Given the description of an element on the screen output the (x, y) to click on. 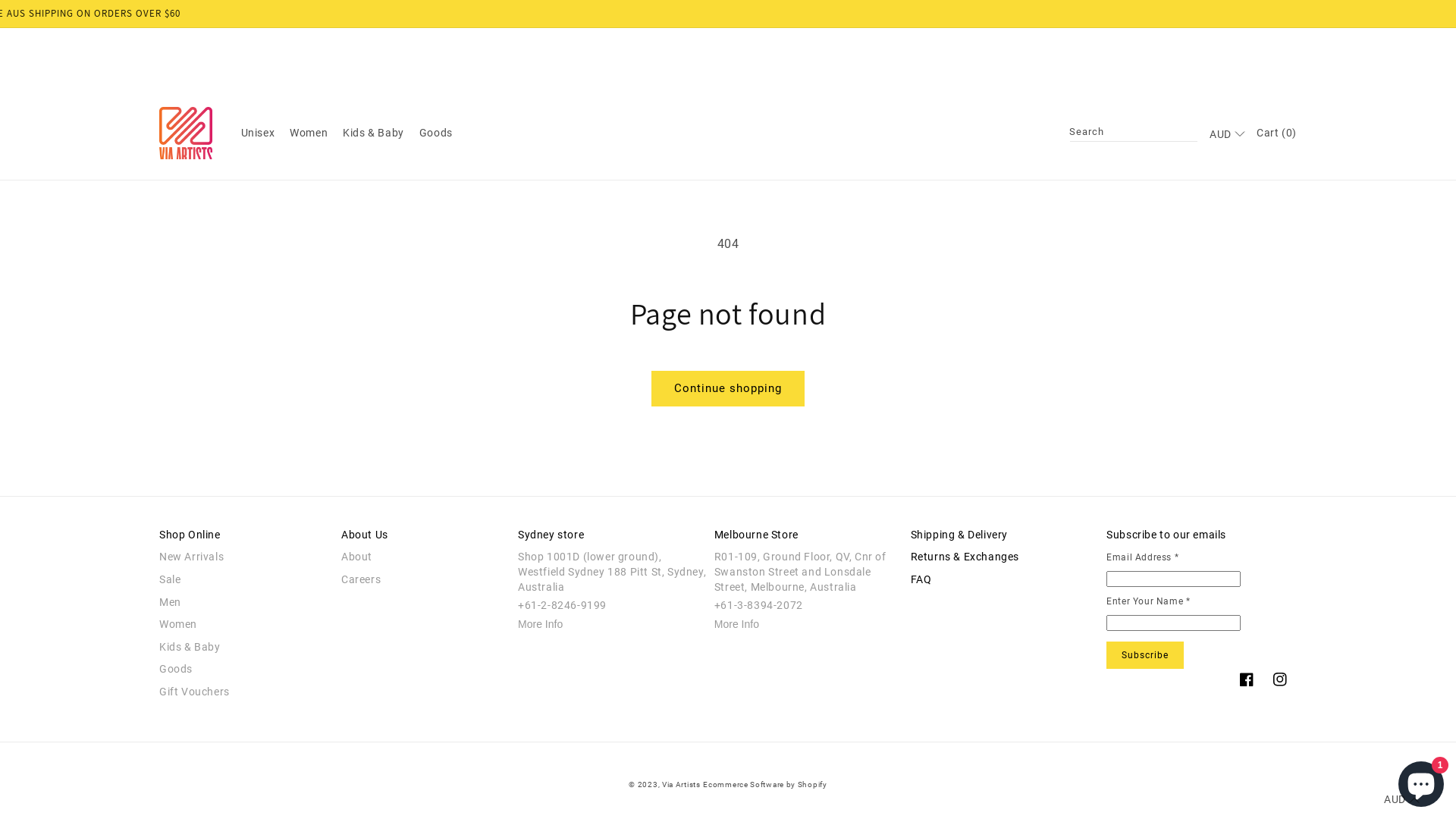
+61-3-8394-2072 Element type: text (758, 605)
Shipping & Delivery Element type: text (958, 535)
AUD Element type: text (1399, 802)
Men Element type: text (244, 602)
Shop Online Element type: text (189, 535)
Kids & Baby Element type: text (244, 647)
About Us Element type: text (364, 535)
+61-2-8246-9199 Element type: text (561, 605)
Shopify online store chat Element type: hover (1420, 780)
FAQ Element type: text (920, 579)
Ecommerce Software by Shopify Element type: text (764, 784)
More Info Element type: text (736, 623)
Goods Element type: text (244, 669)
Sale Element type: text (244, 579)
Continue shopping Element type: text (727, 388)
Via Artists Element type: text (681, 784)
Returns & Exchanges Element type: text (964, 557)
Cart (0) Element type: text (1276, 132)
Careers Element type: text (426, 579)
About Element type: text (426, 557)
New Arrivals Element type: text (244, 557)
Gift Vouchers Element type: text (244, 691)
Facebook Element type: text (1246, 679)
Women Element type: text (244, 624)
Instagram Element type: text (1279, 679)
AUD Element type: text (1224, 137)
More Info Element type: text (539, 623)
Subscribe Element type: text (1144, 654)
